Given the description of an element on the screen output the (x, y) to click on. 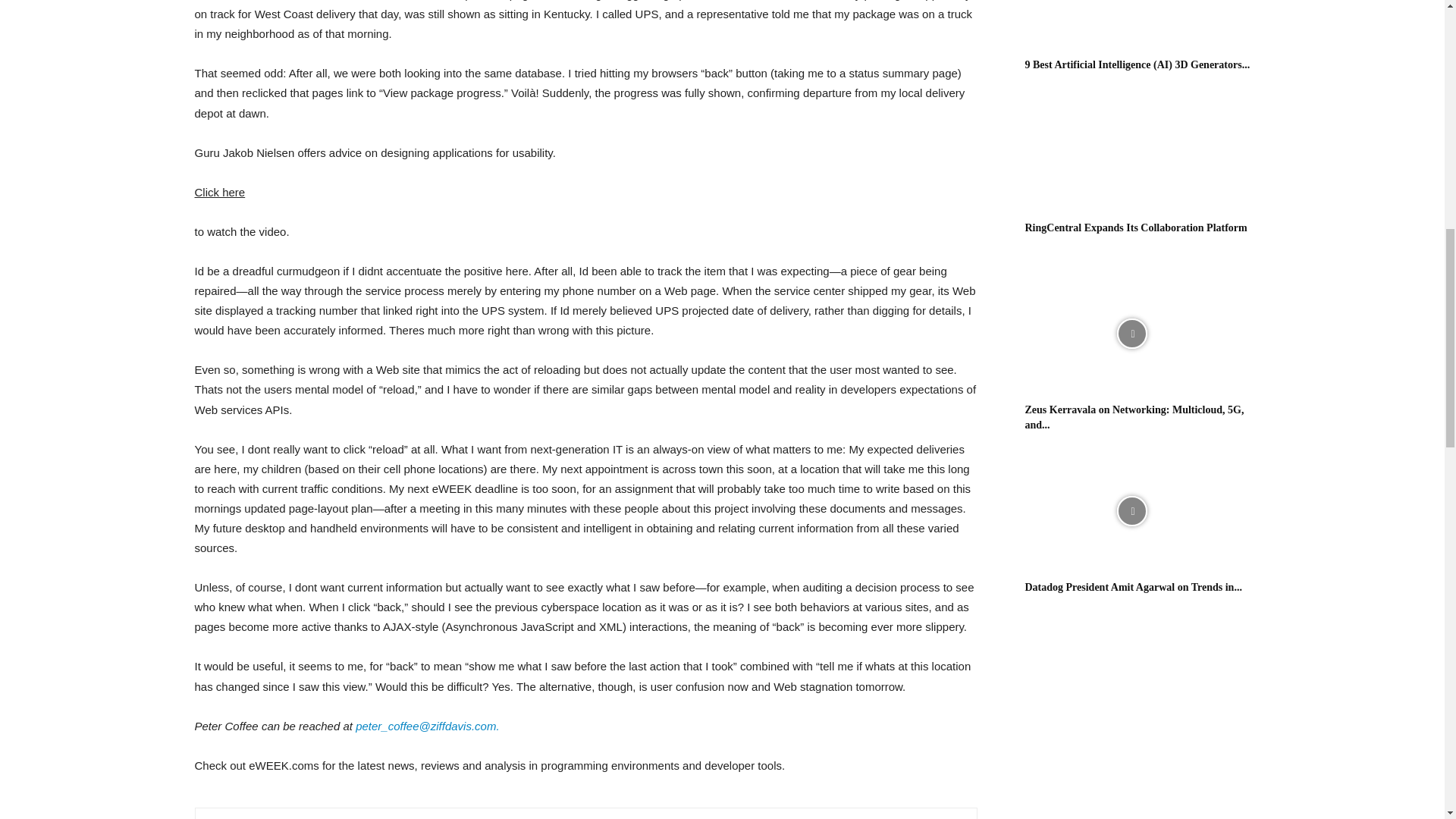
RingCentral Expands Its Collaboration Platform (1131, 151)
Zeus Kerravala on Networking: Multicloud, 5G, and Automation (1131, 333)
RingCentral Expands Its Collaboration Platform (1136, 227)
Zeus Kerravala on Networking: Multicloud, 5G, and Automation (1134, 417)
